Given the description of an element on the screen output the (x, y) to click on. 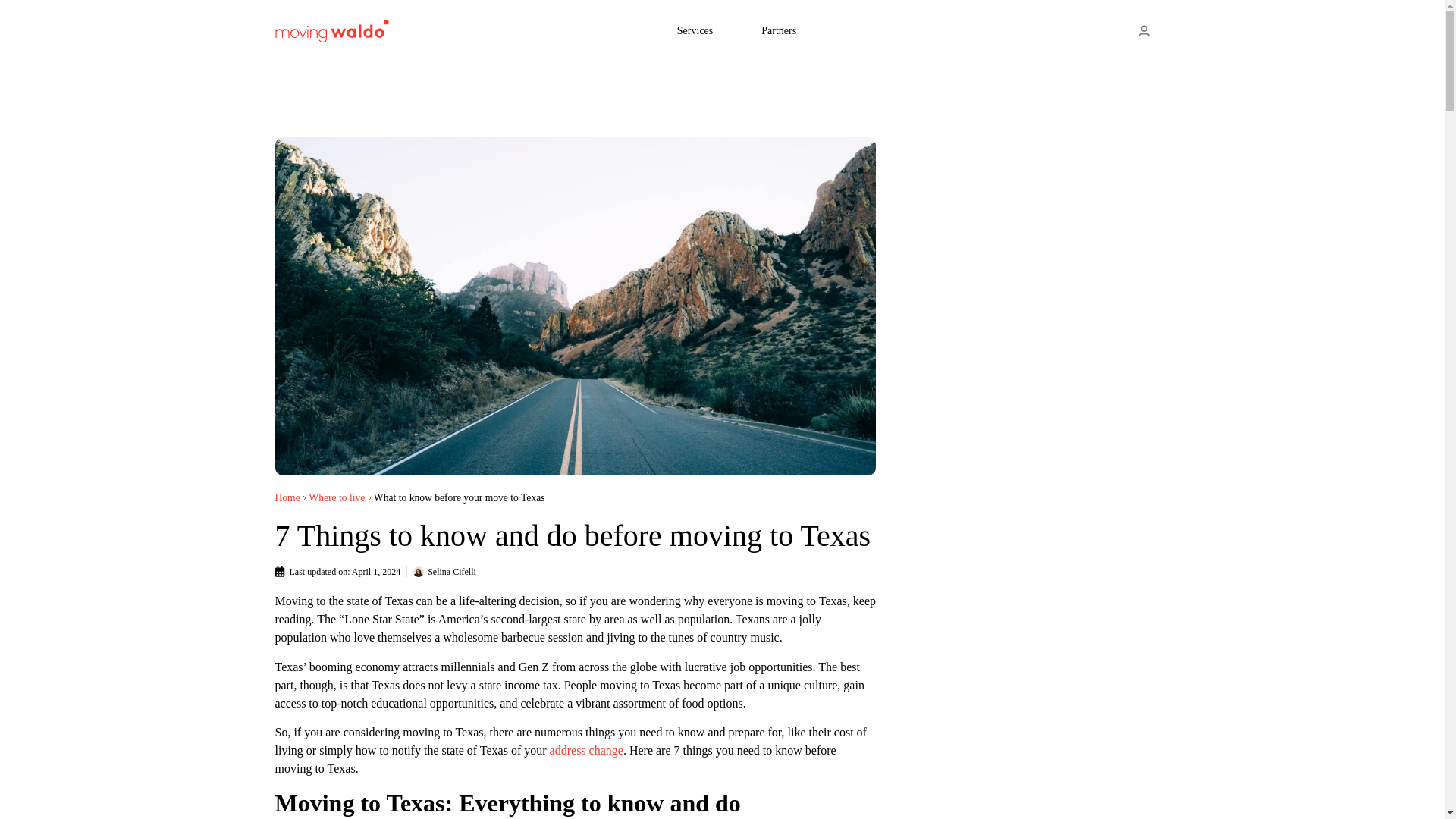
Services (719, 30)
address change (586, 749)
Home (287, 497)
Moving Dashboard (1143, 31)
Where to live (336, 497)
Partners (802, 30)
